Given the description of an element on the screen output the (x, y) to click on. 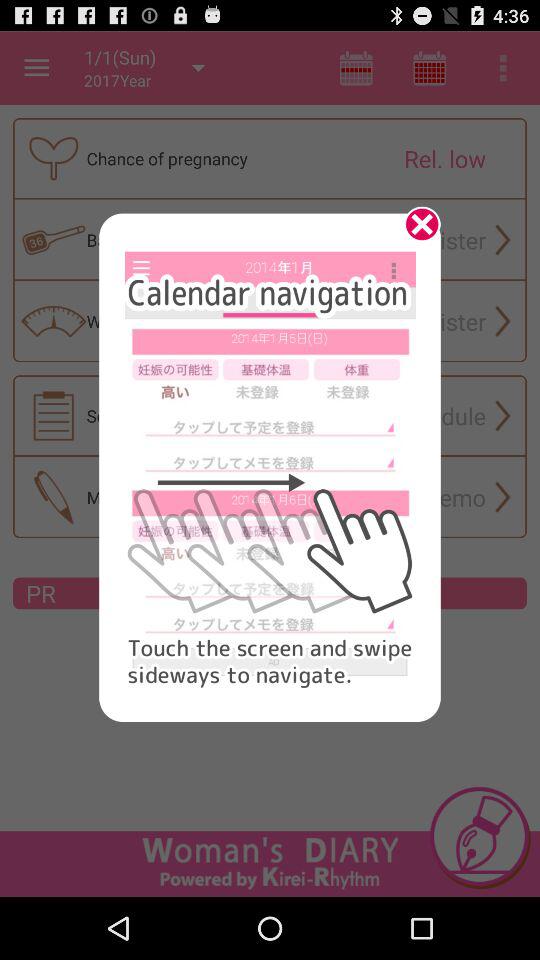
close page (415, 231)
